Given the description of an element on the screen output the (x, y) to click on. 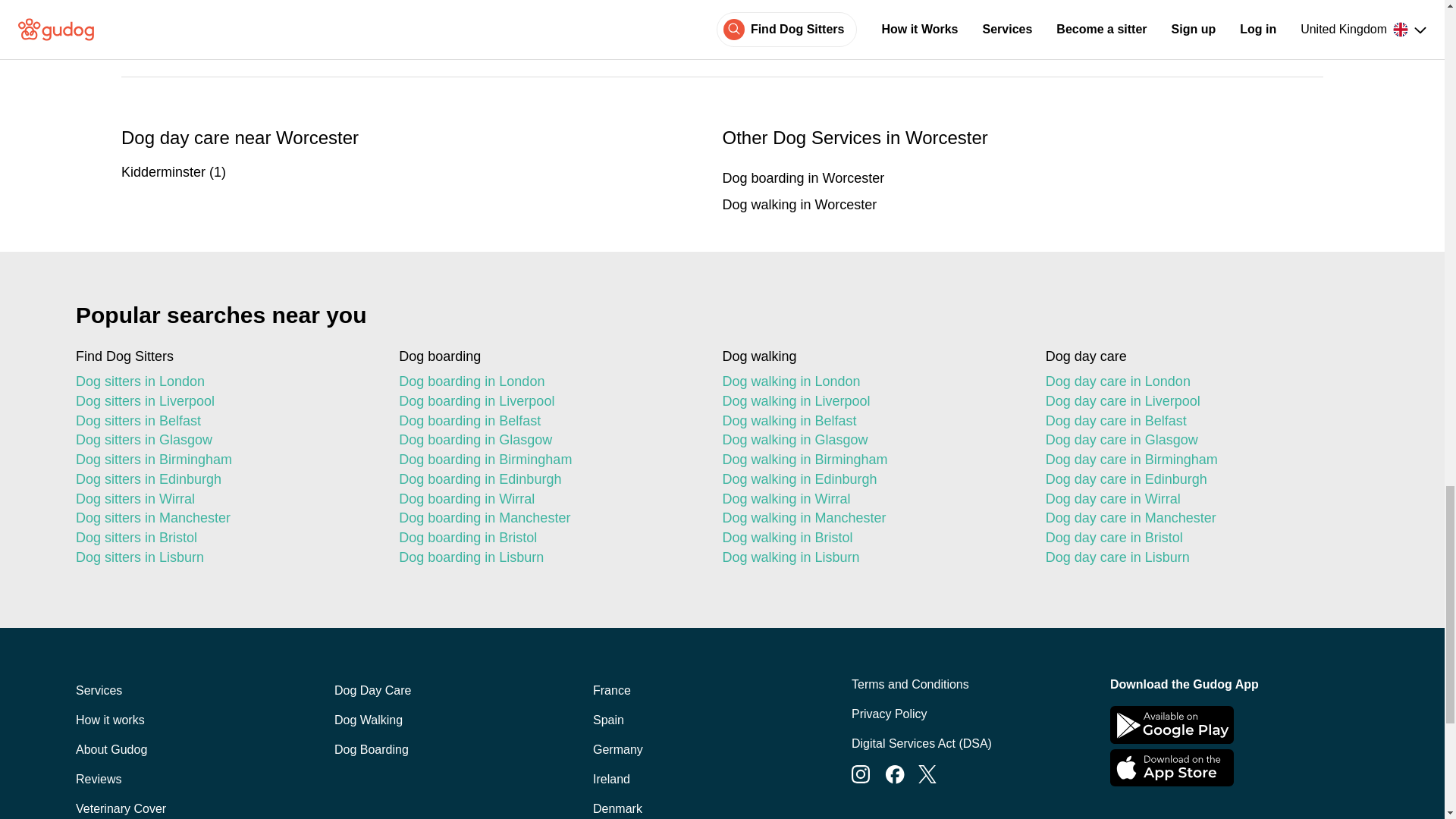
Dog boarding in Belfast (547, 421)
Dog sitters in Birmingham (224, 460)
Dog walking in Worcester (1022, 204)
Dog boarding in London (547, 382)
Dog walking in London (871, 382)
Dog sitters in Edinburgh (224, 479)
Dog sitters in Birmingham (224, 460)
Dog sitters in Manchester (224, 518)
Dog boarding in Glasgow (547, 440)
Dog sitters in Liverpool (224, 401)
Dog sitters in Manchester (224, 518)
Dog boarding in Bristol (547, 537)
Dog boarding in London (547, 382)
Dog boarding in Birmingham (547, 460)
Dog sitters in Wirral (224, 499)
